Given the description of an element on the screen output the (x, y) to click on. 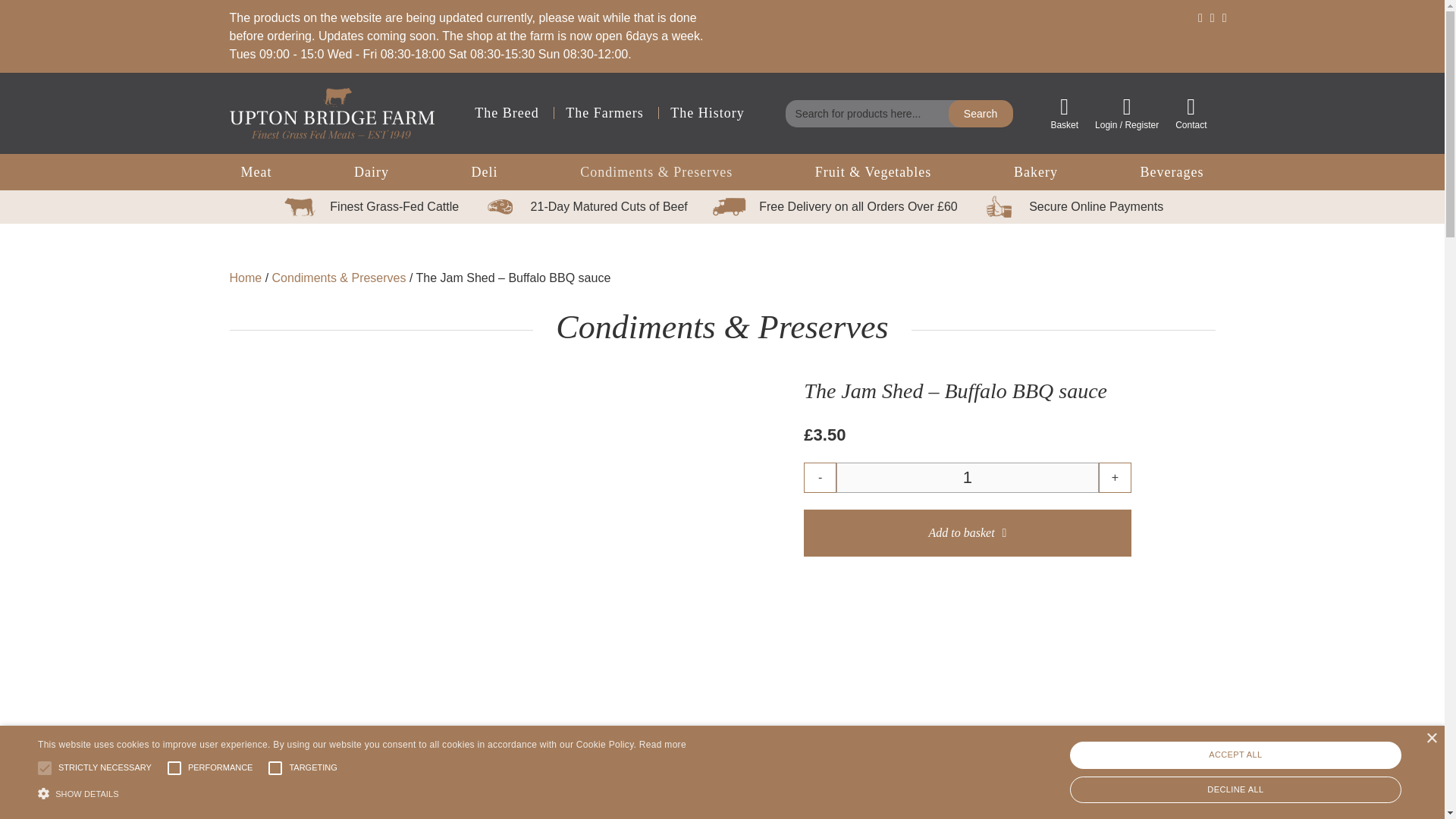
The History (706, 111)
1 (967, 477)
Deli (484, 172)
Home (245, 277)
- (819, 477)
The Farmers (604, 111)
Dairy (370, 172)
Search (981, 113)
Qty (967, 477)
Meat (256, 172)
Add to basket (967, 532)
Bakery (1035, 172)
Beverages (1172, 172)
The Breed (506, 111)
Contact (1190, 113)
